Given the description of an element on the screen output the (x, y) to click on. 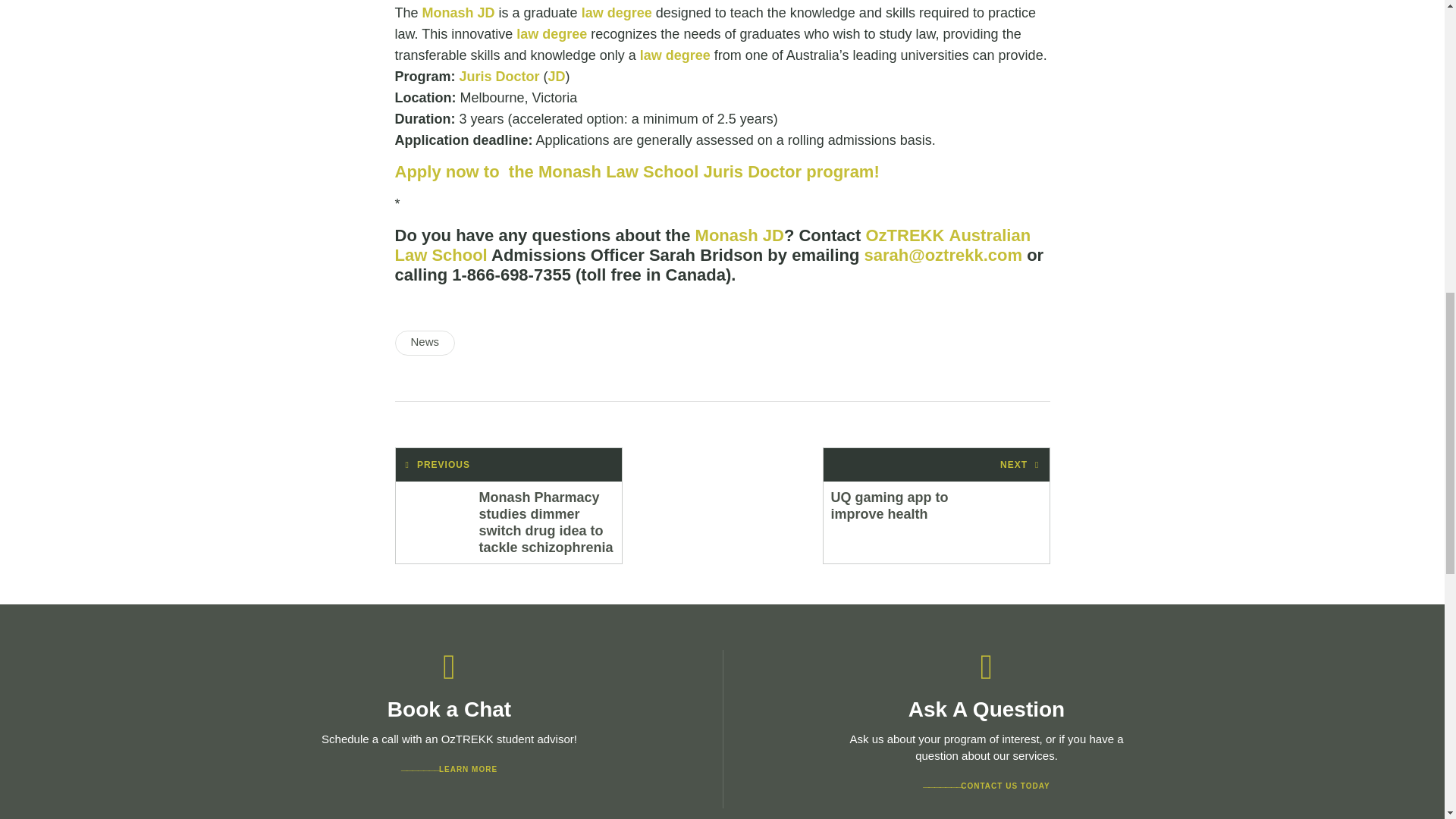
Sydney's JD program (557, 76)
About law degrees in Australia (675, 55)
Email OzTREKK Australian Law School Admissions Officer (943, 254)
Discover more about Australian law schools (712, 245)
Juris Doctor program at Sydney (500, 76)
About law degrees in Australia (551, 33)
Monash JD program (739, 235)
Apply now to  the Monash Law School Juris Doctor program! (636, 171)
OzTREKK - Your Canadian Connection to Study Law in Australia (903, 235)
Monash JD program (458, 12)
About law degrees in Australia (616, 12)
